Given the description of an element on the screen output the (x, y) to click on. 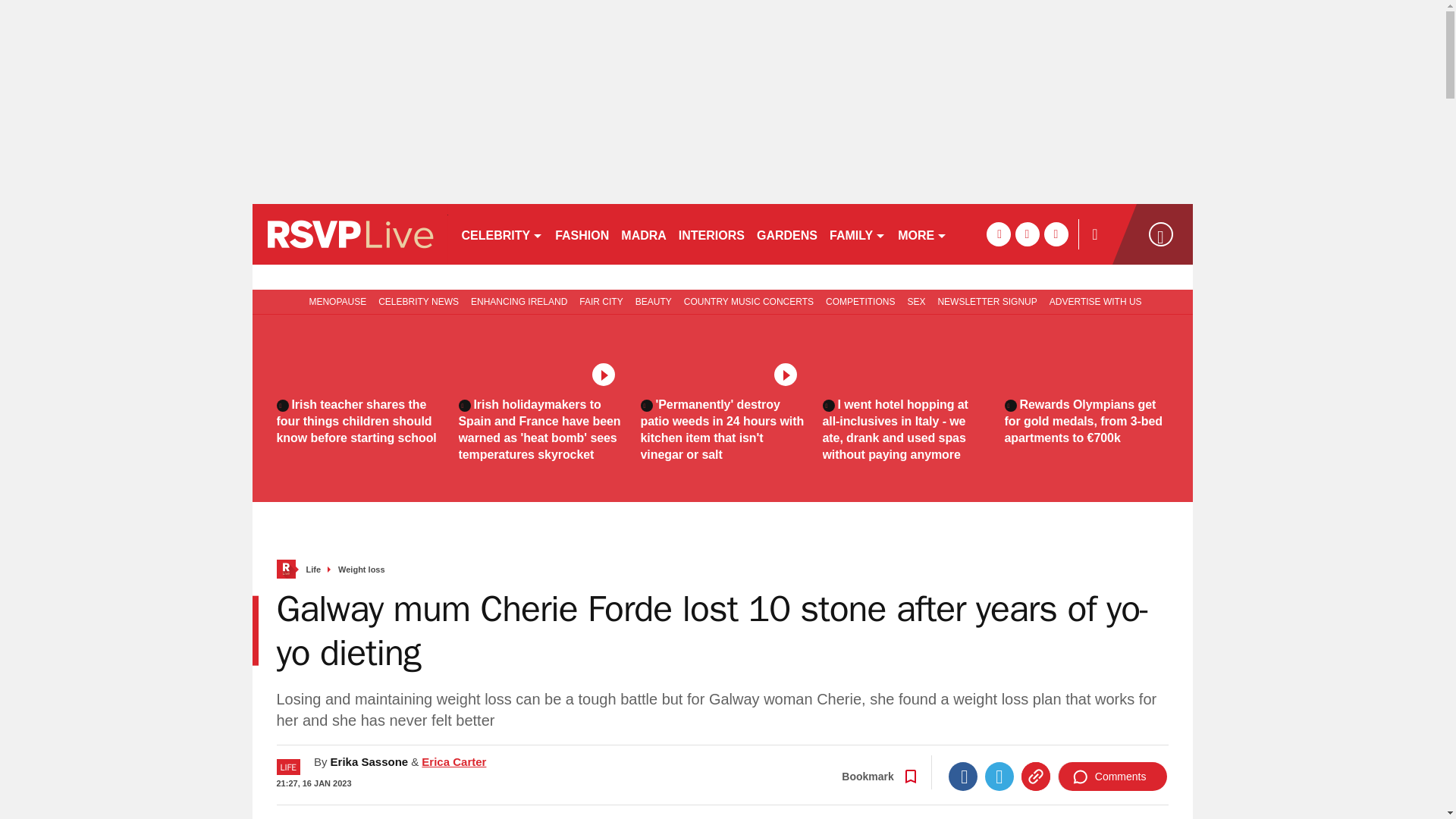
MORE (922, 233)
instagram (1055, 233)
CELEBRITY (501, 233)
FAMILY (857, 233)
FASHION (581, 233)
MADRA (643, 233)
Facebook (962, 776)
Comments (1112, 776)
facebook (997, 233)
GARDENS (787, 233)
